Given the description of an element on the screen output the (x, y) to click on. 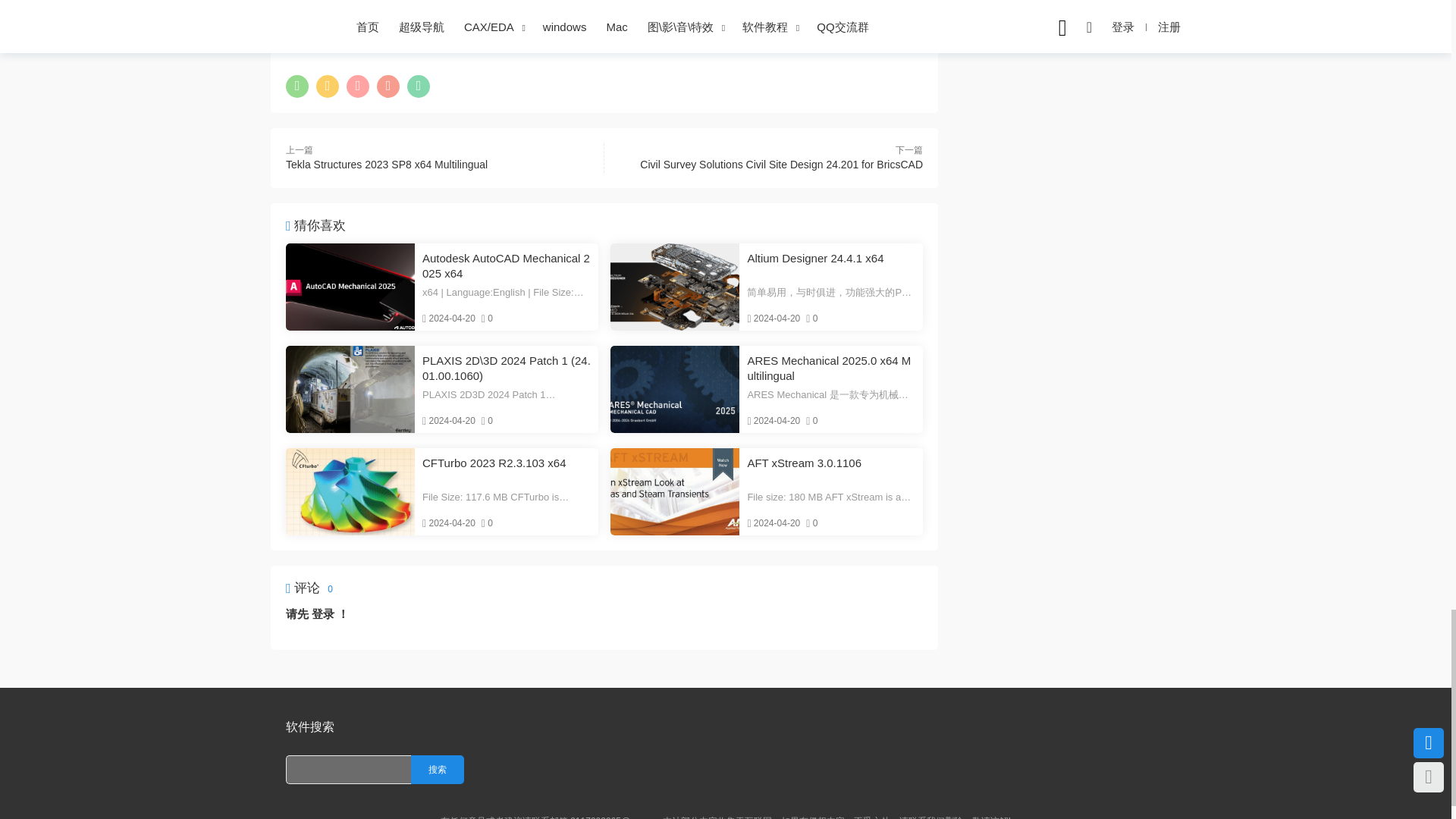
AFT xStream 3.0.1106 (831, 470)
Altium Designer 24.4.1 x64 (831, 265)
CFTurbo 2023 R2.3.103 x64 (507, 470)
ARES Mechanical 2025.0 x64 Multilingual (831, 368)
Autodesk AutoCAD Mechanical 2025 x64 (507, 265)
Autodesk AutoCAD Mechanical 2025 x64 (349, 286)
AFT xStream 3.0.1106 (674, 491)
ARES Mechanical 2025.0 x64 Multilingual (674, 389)
CFTurbo 2023 R2.3.103 x64 (349, 491)
Altium Designer 24.4.1 x64 (674, 286)
